Given the description of an element on the screen output the (x, y) to click on. 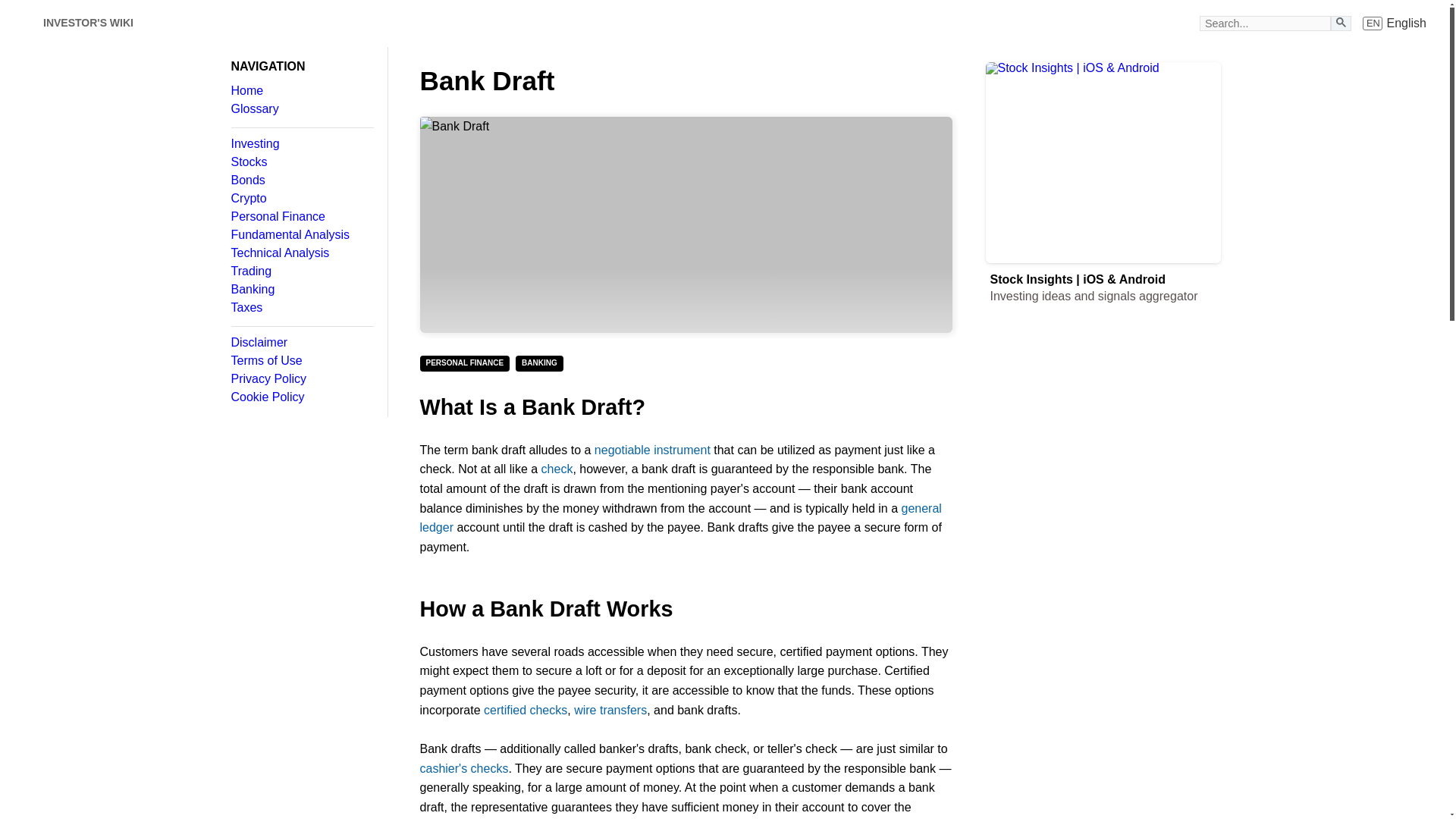
Investor's wiki (23, 23)
Search (1340, 22)
Taxes (301, 307)
Home (301, 91)
Crypto (301, 198)
Personal Finance (301, 216)
Stocks (301, 162)
Disclaimer (301, 342)
Privacy Policy (301, 378)
Trading (301, 271)
Glossary (301, 109)
Bonds (301, 180)
Investing (301, 143)
Search (1340, 23)
Bank Draft (686, 224)
